Given the description of an element on the screen output the (x, y) to click on. 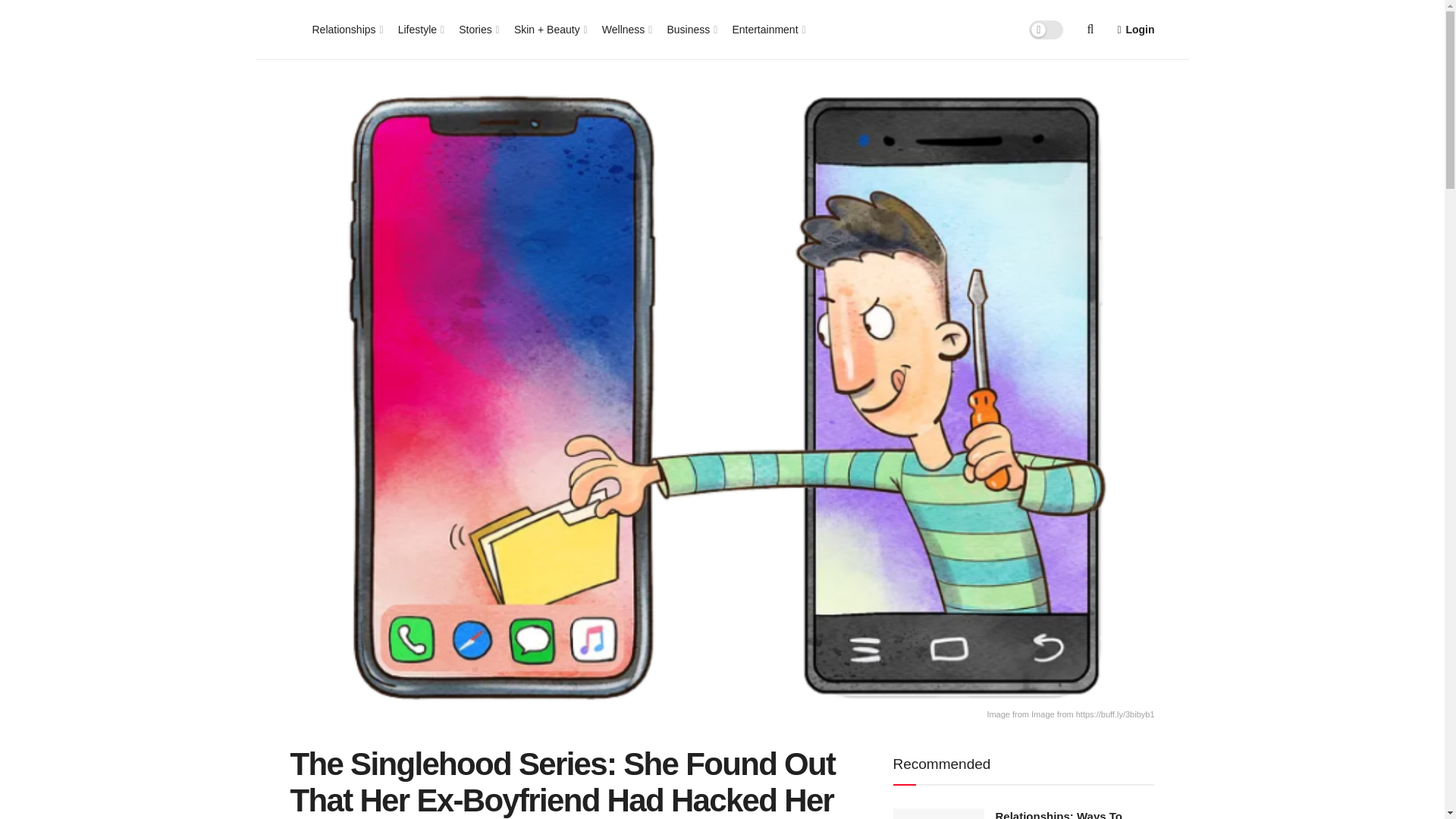
Entertainment (767, 29)
Lifestyle (419, 29)
Relationships (347, 29)
Stories (477, 29)
Wellness (626, 29)
Business (690, 29)
